Given the description of an element on the screen output the (x, y) to click on. 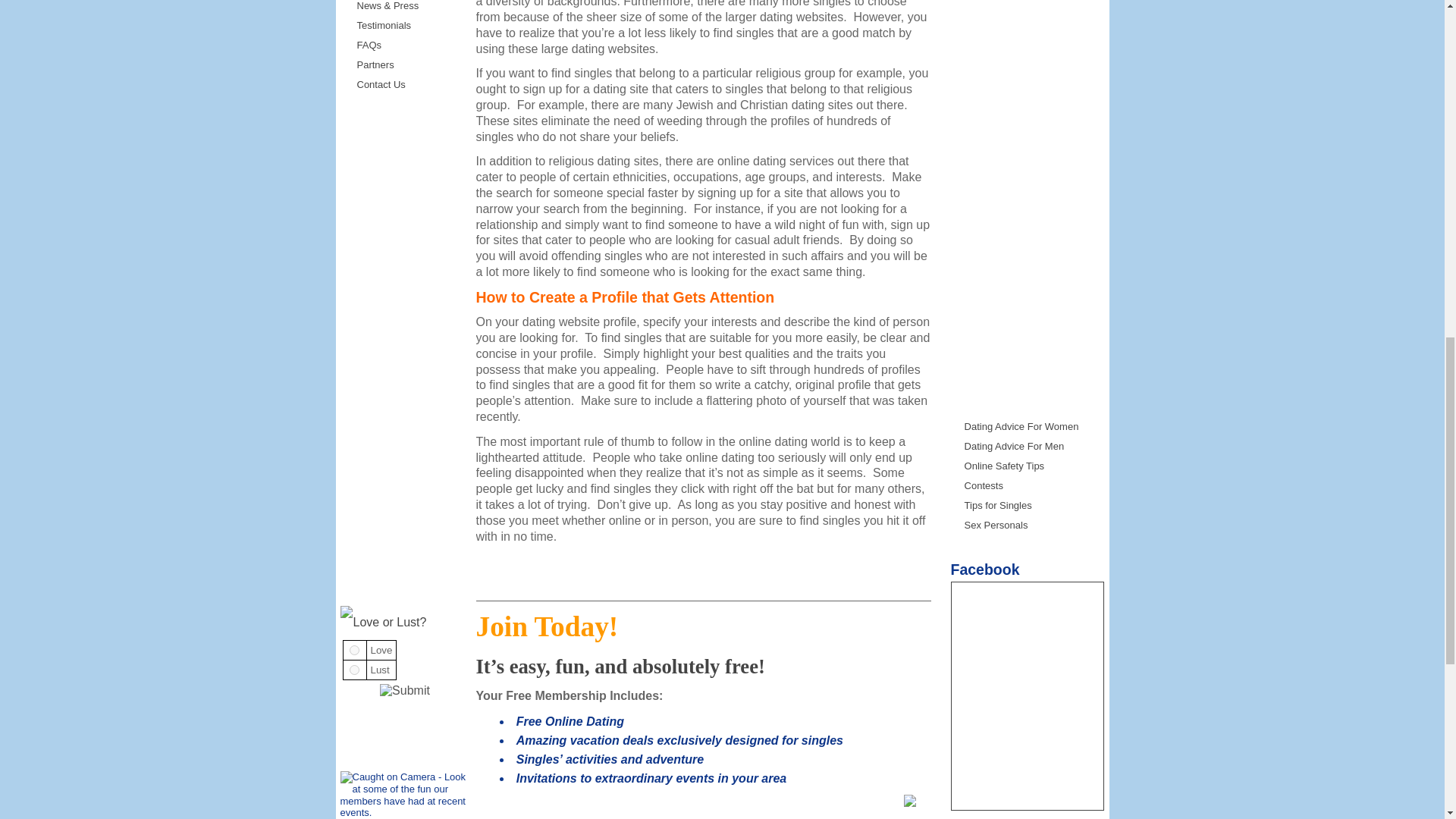
Submit (404, 690)
Join Today! (909, 803)
74 (354, 650)
75 (354, 669)
